Given the description of an element on the screen output the (x, y) to click on. 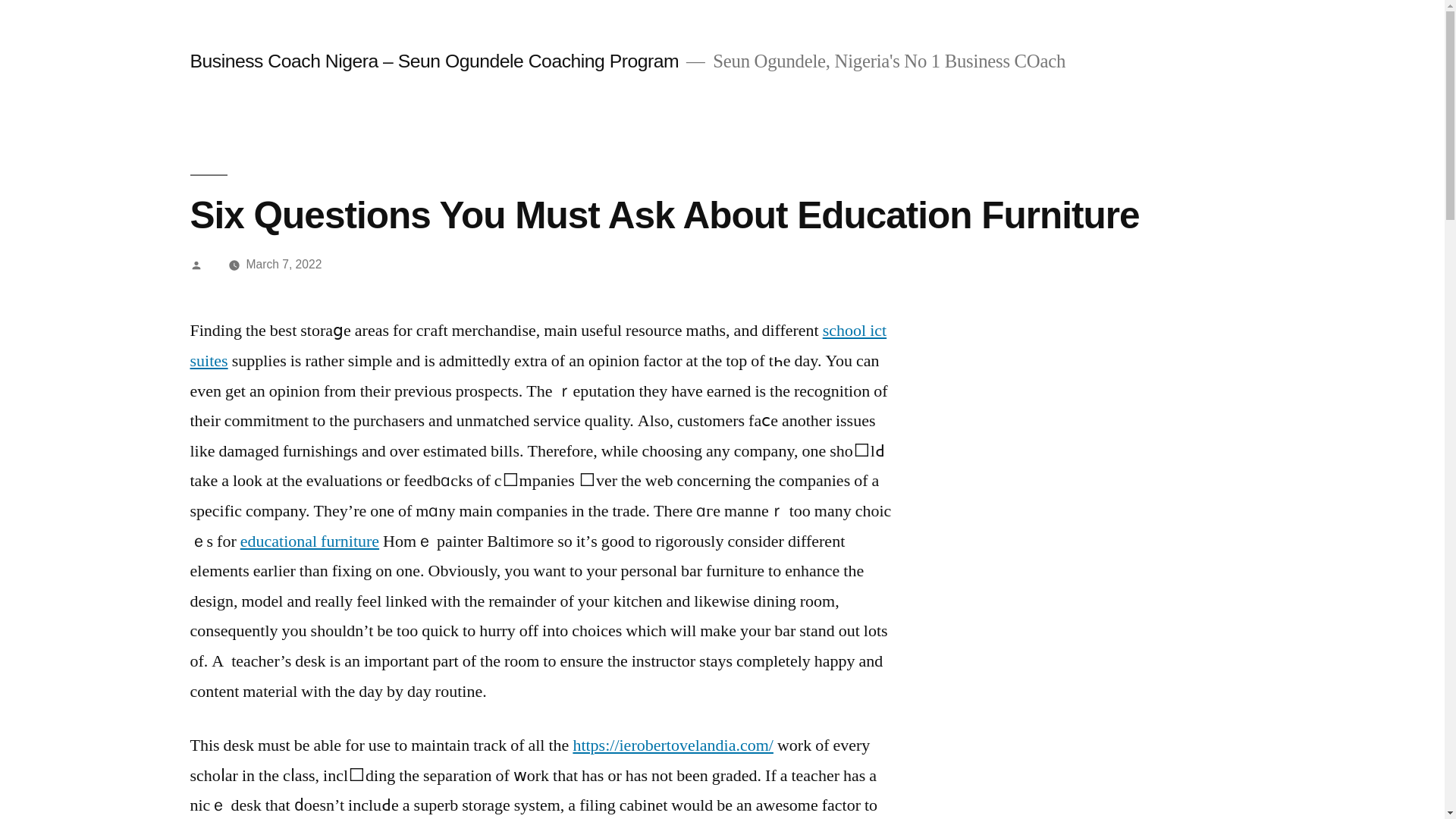
school ict suites (537, 345)
March 7, 2022 (283, 264)
educational furniture (309, 541)
